Given the description of an element on the screen output the (x, y) to click on. 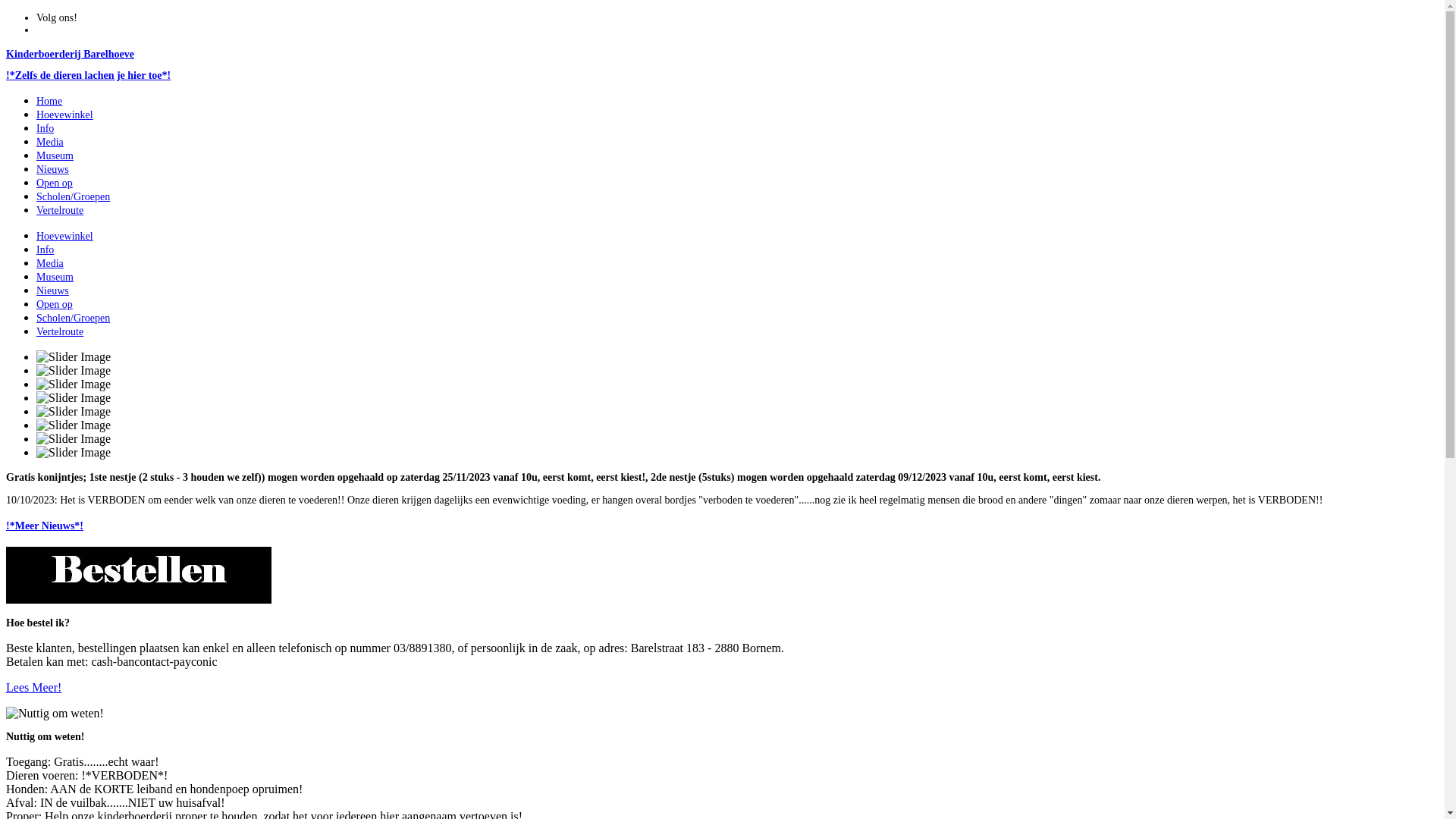
Open op Element type: text (54, 182)
Info Element type: text (44, 249)
Museum Element type: text (54, 276)
Hoevewinkel Element type: text (64, 114)
Hoevewinkel Element type: text (64, 235)
Vertelroute Element type: text (59, 331)
Open op Element type: text (54, 304)
Nieuws Element type: text (52, 169)
Museum Element type: text (54, 155)
Info Element type: text (44, 128)
Scholen/Groepen Element type: text (72, 196)
Nieuws Element type: text (52, 290)
Scholen/Groepen Element type: text (72, 317)
Media Element type: text (49, 263)
!*Meer Nieuws*! Element type: text (722, 526)
Lees Meer! Element type: text (33, 686)
Home Element type: text (49, 100)
Vertelroute Element type: text (59, 210)
Media Element type: text (49, 141)
